Given the description of an element on the screen output the (x, y) to click on. 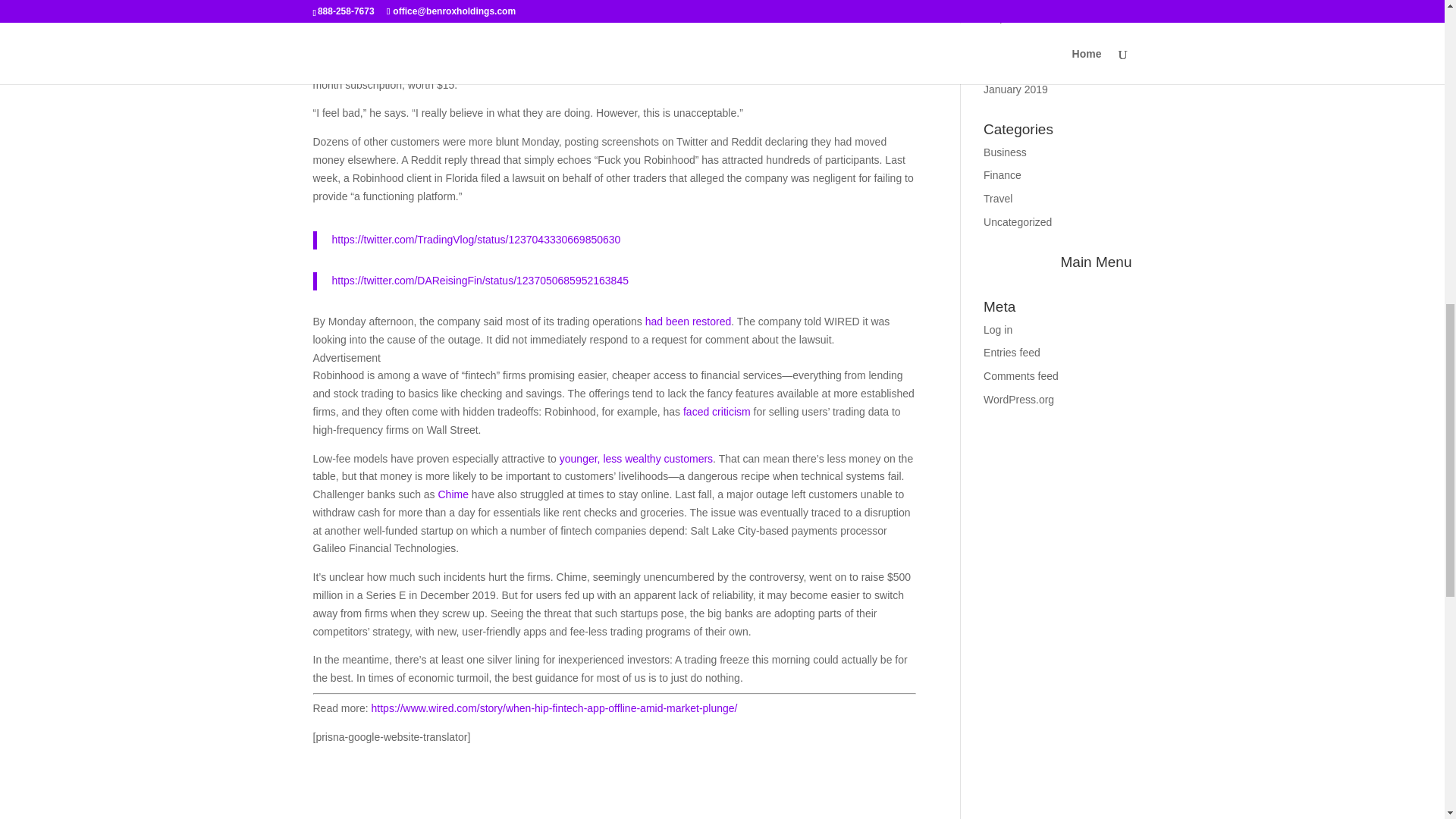
January 2019 (1016, 89)
Chime (453, 494)
May 2019 (1006, 19)
June 2019 (1008, 1)
March 2019 (1011, 65)
had been restored (688, 321)
faced criticism (716, 411)
Business (1005, 151)
April 2019 (1007, 42)
Finance (1003, 174)
younger, less wealthy customers (636, 458)
